Given the description of an element on the screen output the (x, y) to click on. 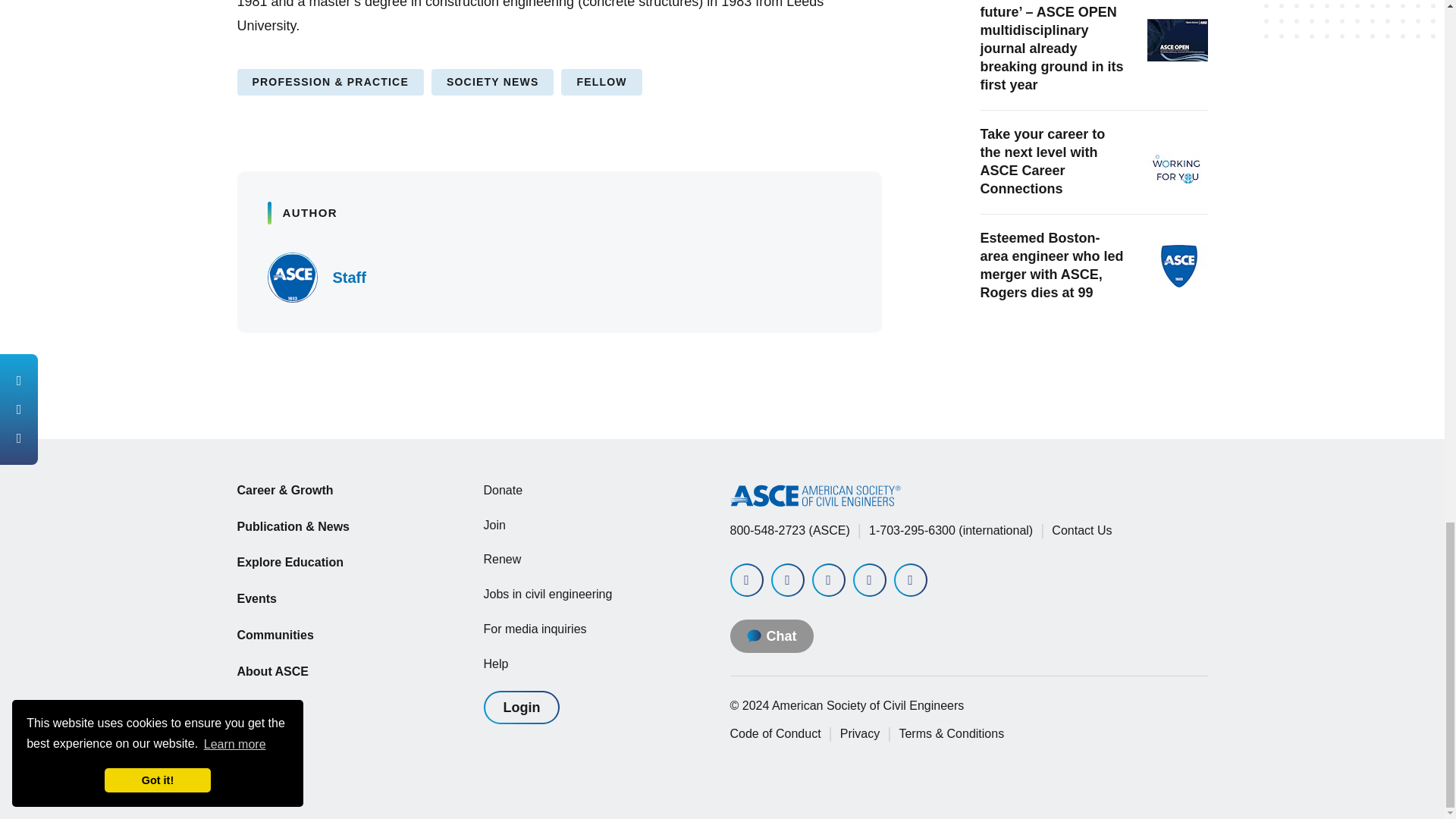
Login (521, 707)
